Given the description of an element on the screen output the (x, y) to click on. 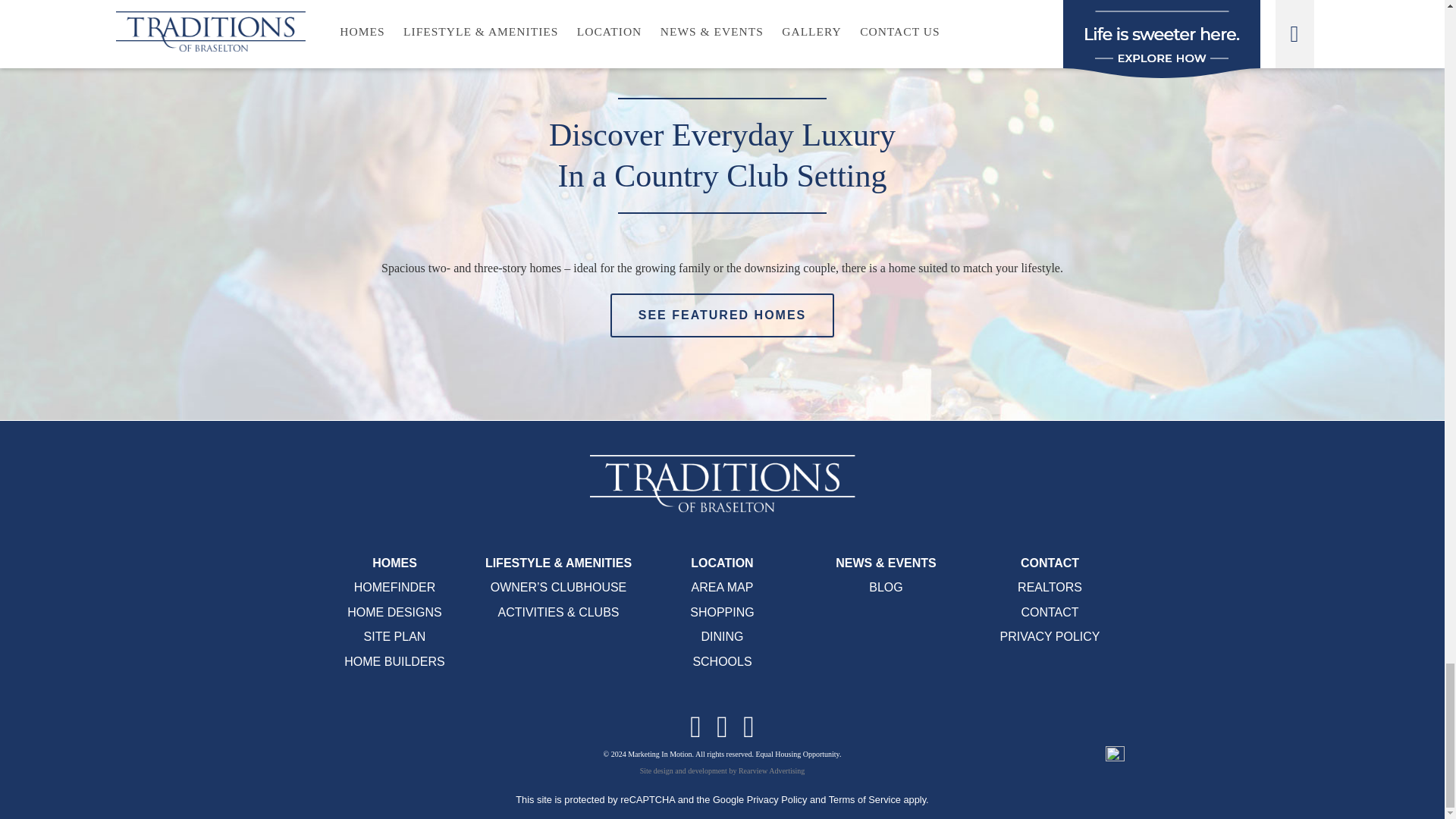
HOME DESIGNS (394, 612)
REALTORS (1049, 586)
AREA MAP (722, 586)
CONTACT (1049, 563)
LOCATION (721, 563)
BLOG (885, 586)
SEE FEATURED HOMES (722, 315)
SITE PLAN (395, 635)
SHOPPING (722, 612)
DINING (721, 635)
